Given the description of an element on the screen output the (x, y) to click on. 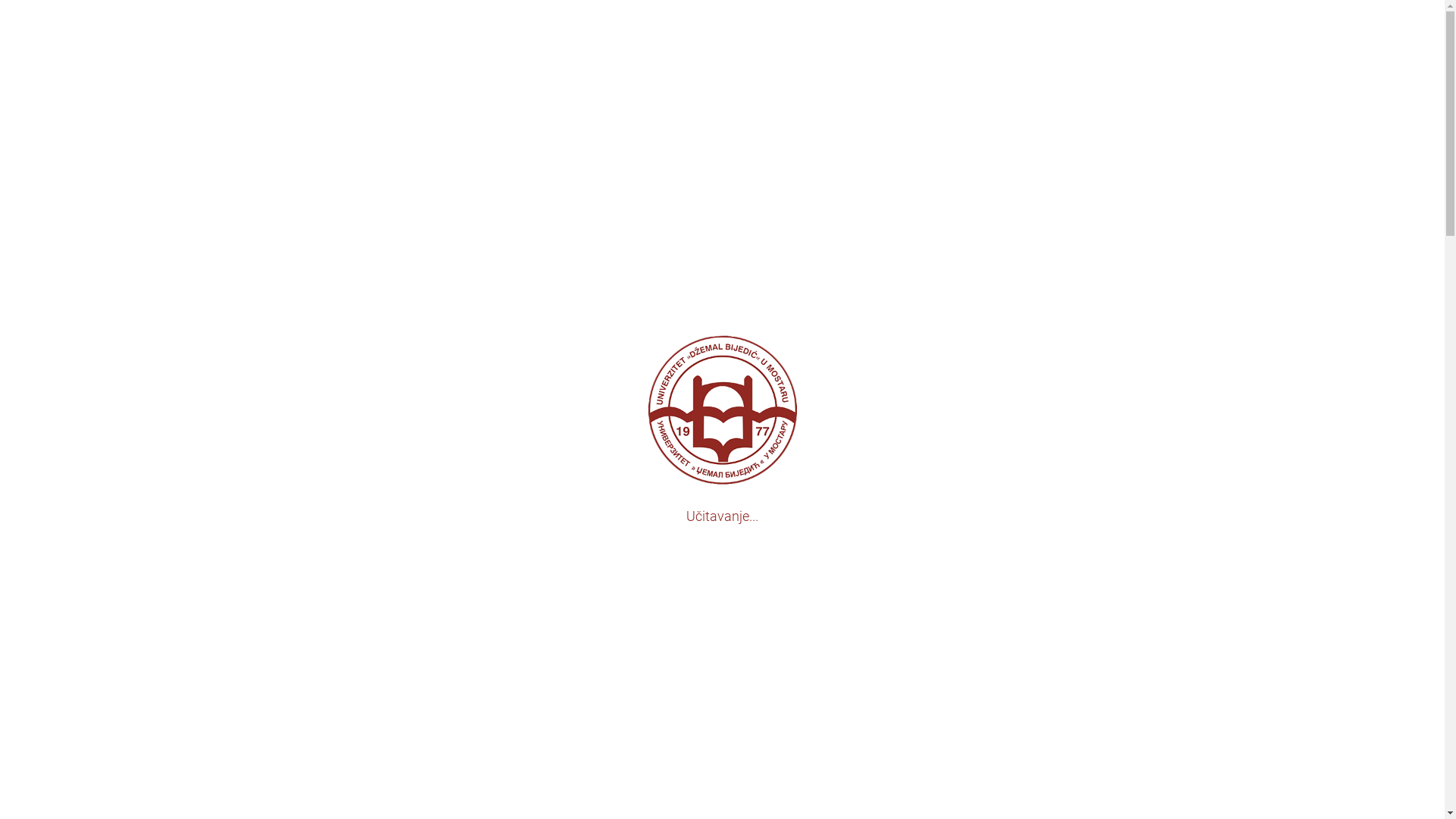
Studijski programi Element type: text (894, 171)
Osoblje Element type: text (894, 478)
Career Center Mostar Element type: text (894, 728)
Unija studenata Element type: text (894, 670)
Dokumenti Element type: text (894, 507)
Skip to the content Element type: text (722, 16)
Univerzitet Element type: text (894, 142)
Instituti Element type: text (894, 699)
Univerzitetski studiji Element type: text (894, 229)
Senat Element type: text (894, 450)
toggle navigation Element type: text (506, 12)
English Element type: text (1412, 514)
Rektori Element type: text (894, 363)
Univerzitetska biblioteka Element type: text (894, 613)
Unmo Element type: hover (137, 497)
UNIVERZITET Element type: text (499, 40)
Akademski kalendar Element type: text (894, 287)
Fakulteti Element type: text (894, 200)
Studentski dom Element type: text (894, 641)
Upravni odbor Element type: text (894, 421)
Zbornici Element type: text (894, 315)
Bosanski Element type: text (1416, 500)
Kancelarija za osiguranje kvaliteta Element type: text (894, 757)
